Given the description of an element on the screen output the (x, y) to click on. 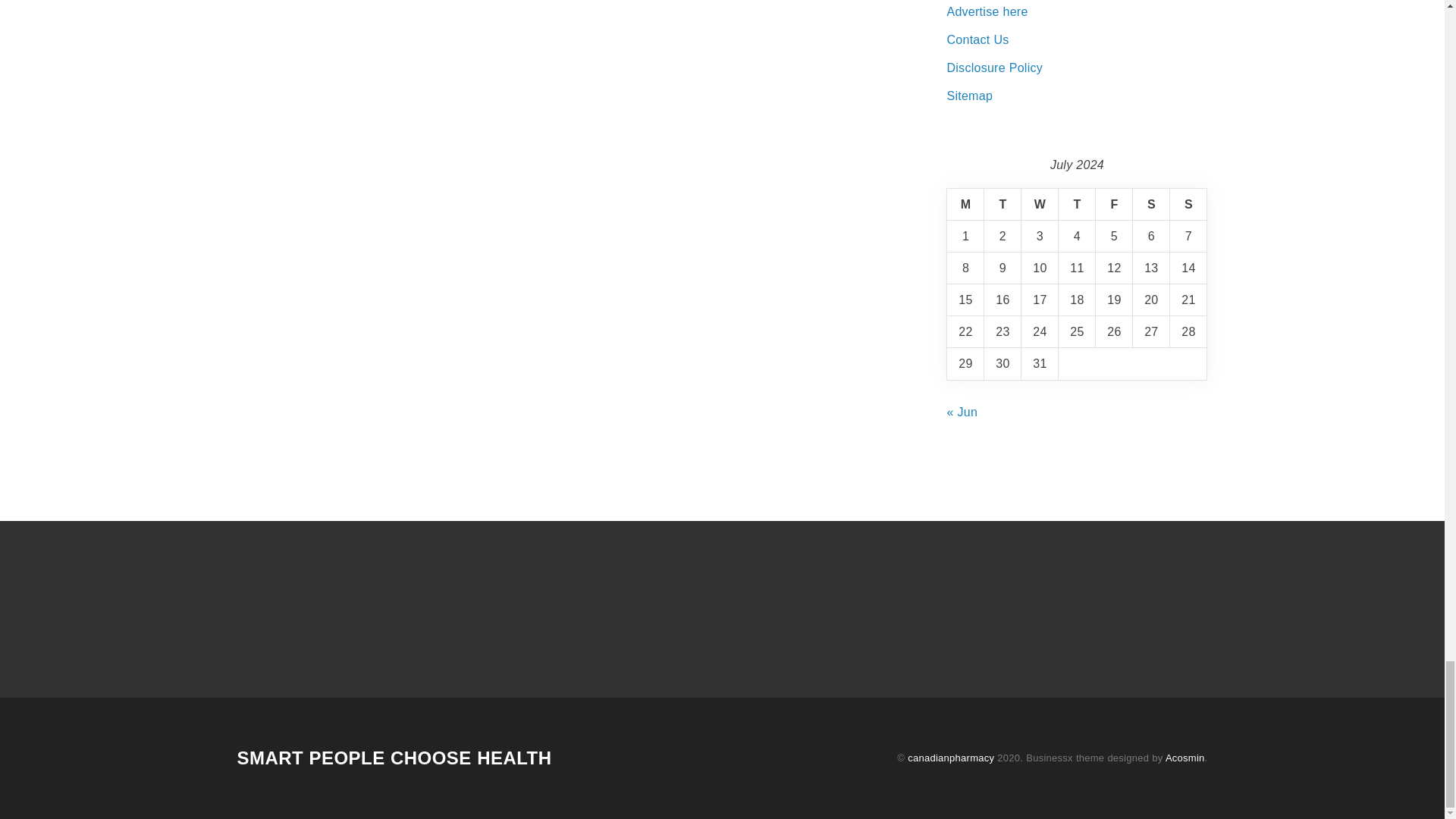
Monday (965, 204)
Friday (1114, 204)
Wednesday (1040, 204)
Tuesday (1003, 204)
Sunday (1188, 204)
Thursday (1077, 204)
Saturday (1151, 204)
